Given the description of an element on the screen output the (x, y) to click on. 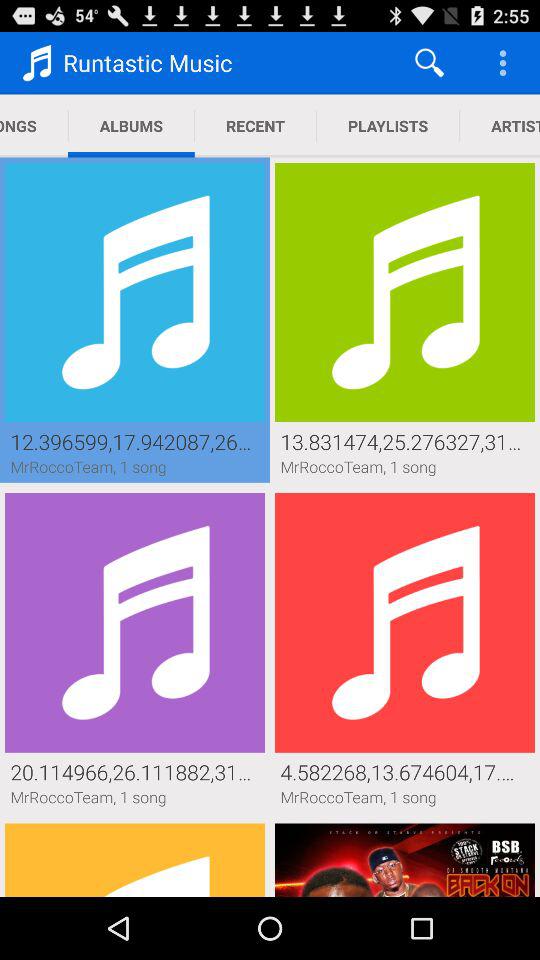
press the item to the left of the artists app (387, 125)
